Given the description of an element on the screen output the (x, y) to click on. 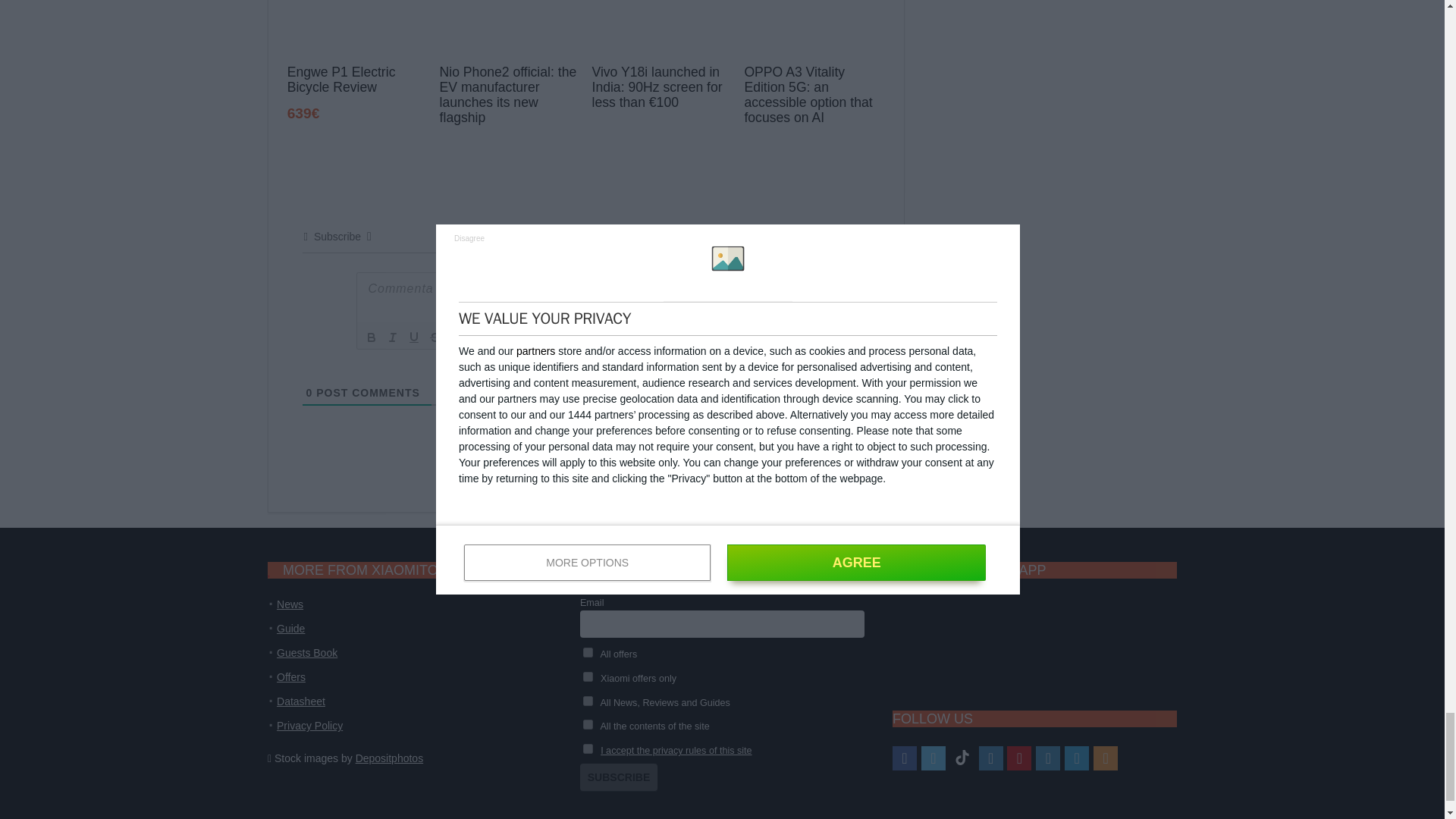
5 (587, 652)
on (587, 748)
16 (587, 724)
14 (587, 676)
SUBSCRIBE (618, 777)
15 (587, 700)
